Given the description of an element on the screen output the (x, y) to click on. 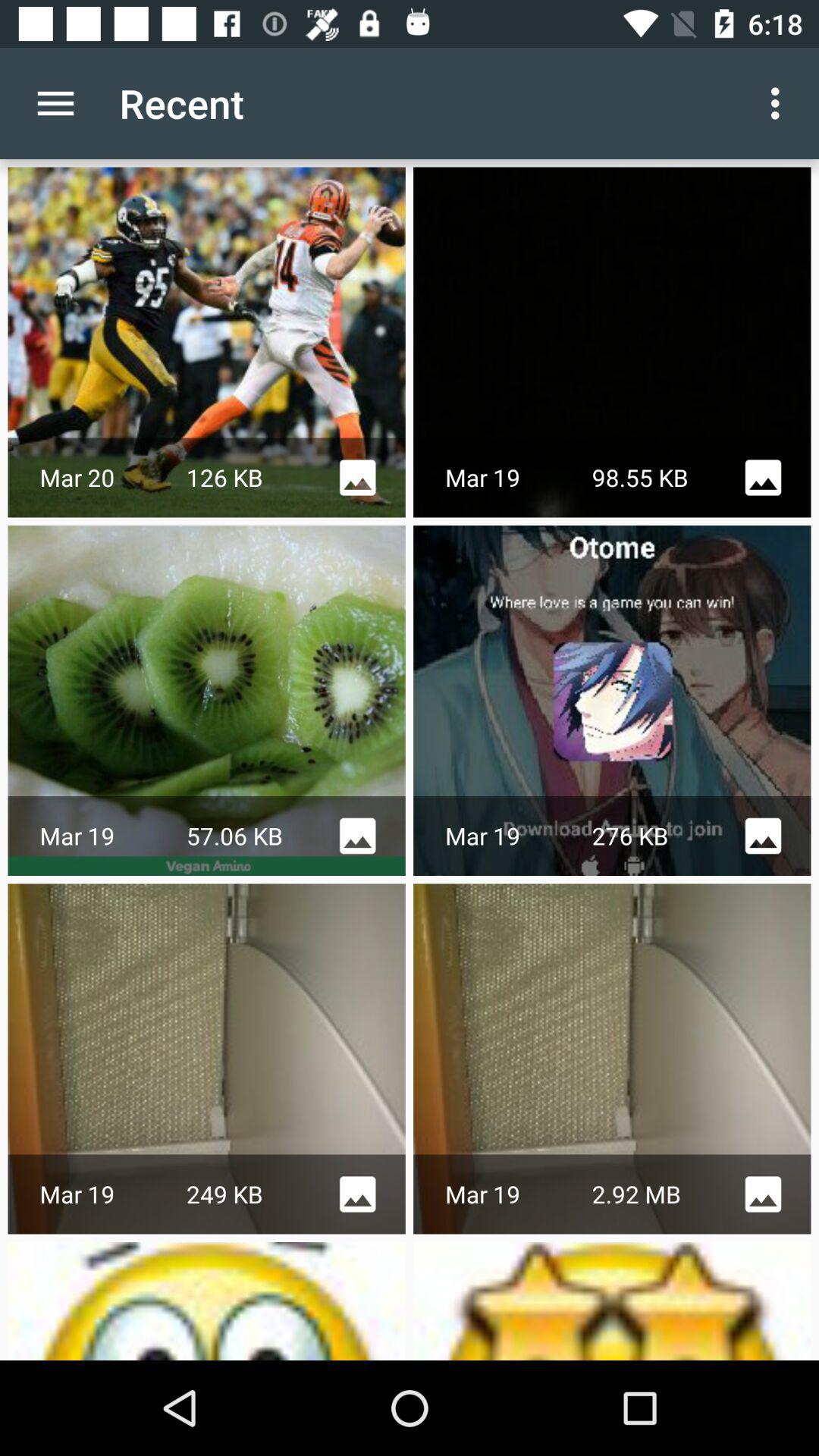
launch app to the right of the recent icon (779, 103)
